Given the description of an element on the screen output the (x, y) to click on. 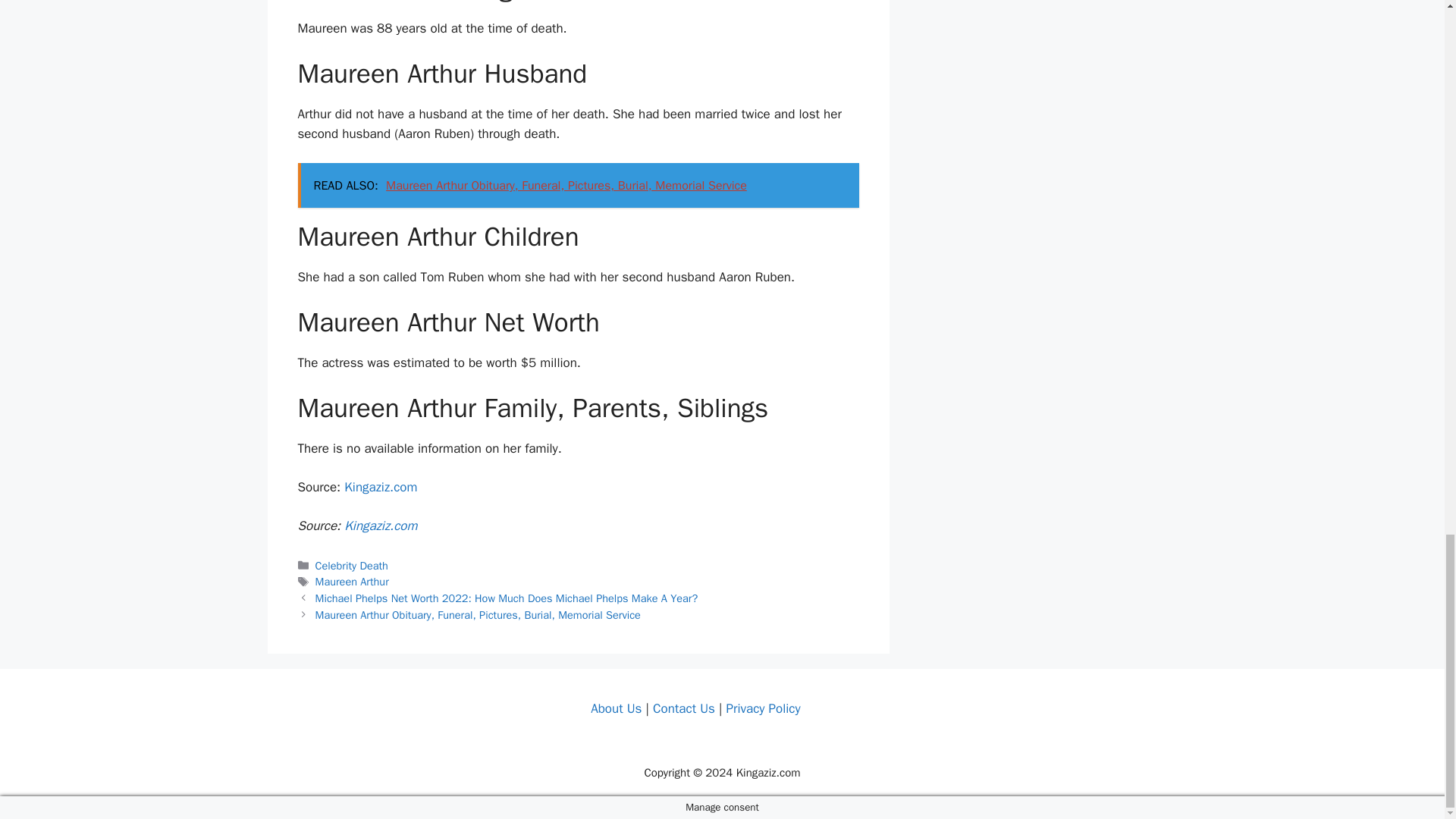
Contact Us (683, 708)
Kingaziz.com (379, 525)
Kingaziz.com (379, 487)
Privacy Policy (762, 708)
About Us (616, 708)
Maureen Arthur (351, 581)
Celebrity Death (351, 565)
